Given the description of an element on the screen output the (x, y) to click on. 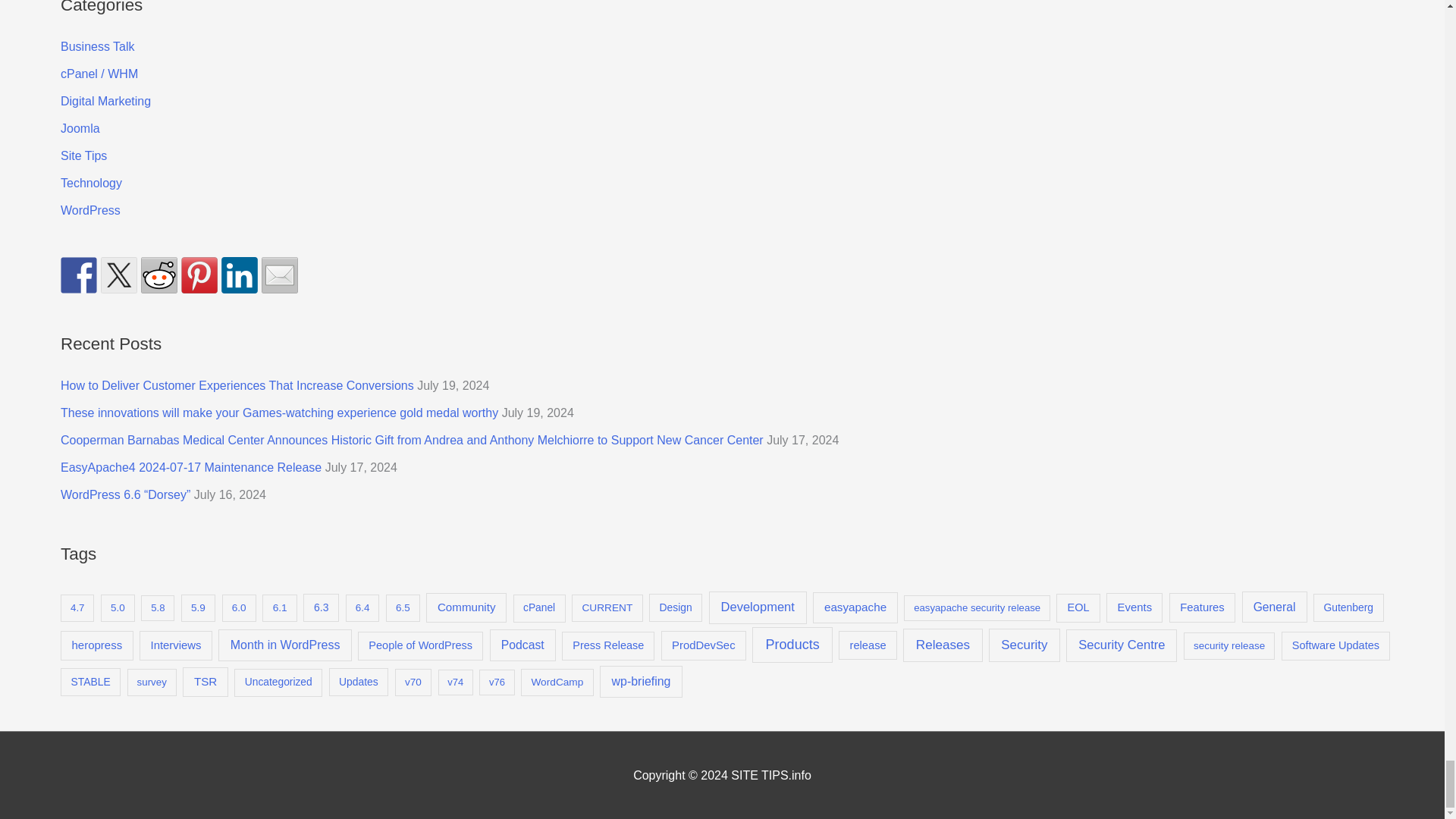
Share on Facebook (79, 275)
Share on Linkedin (239, 275)
Share on Twitter (118, 275)
Share on Reddit (159, 275)
Pin it with Pinterest (198, 275)
